Given the description of an element on the screen output the (x, y) to click on. 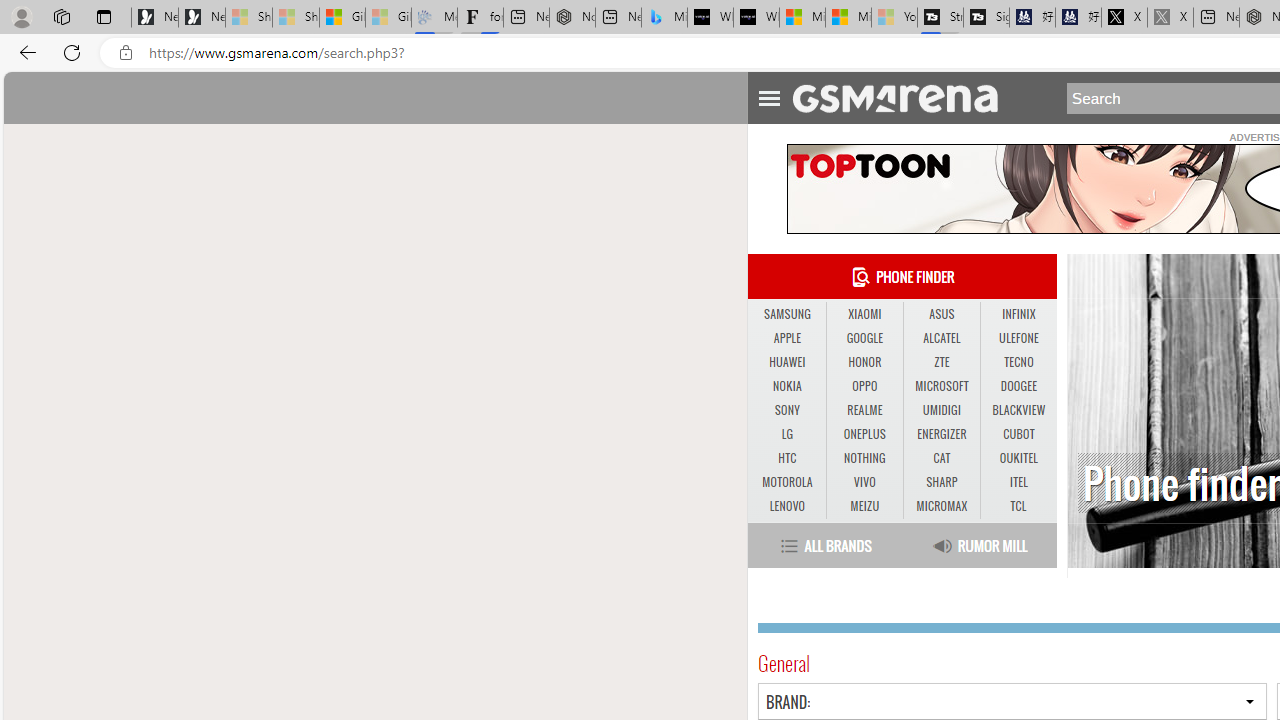
NOKIA (786, 385)
NOTHING (863, 457)
ULEFONE (1018, 338)
ONEPLUS (863, 434)
VIVO (864, 483)
HONOR (864, 362)
CAT (941, 457)
ALCATEL (941, 338)
HONOR (863, 362)
